Given the description of an element on the screen output the (x, y) to click on. 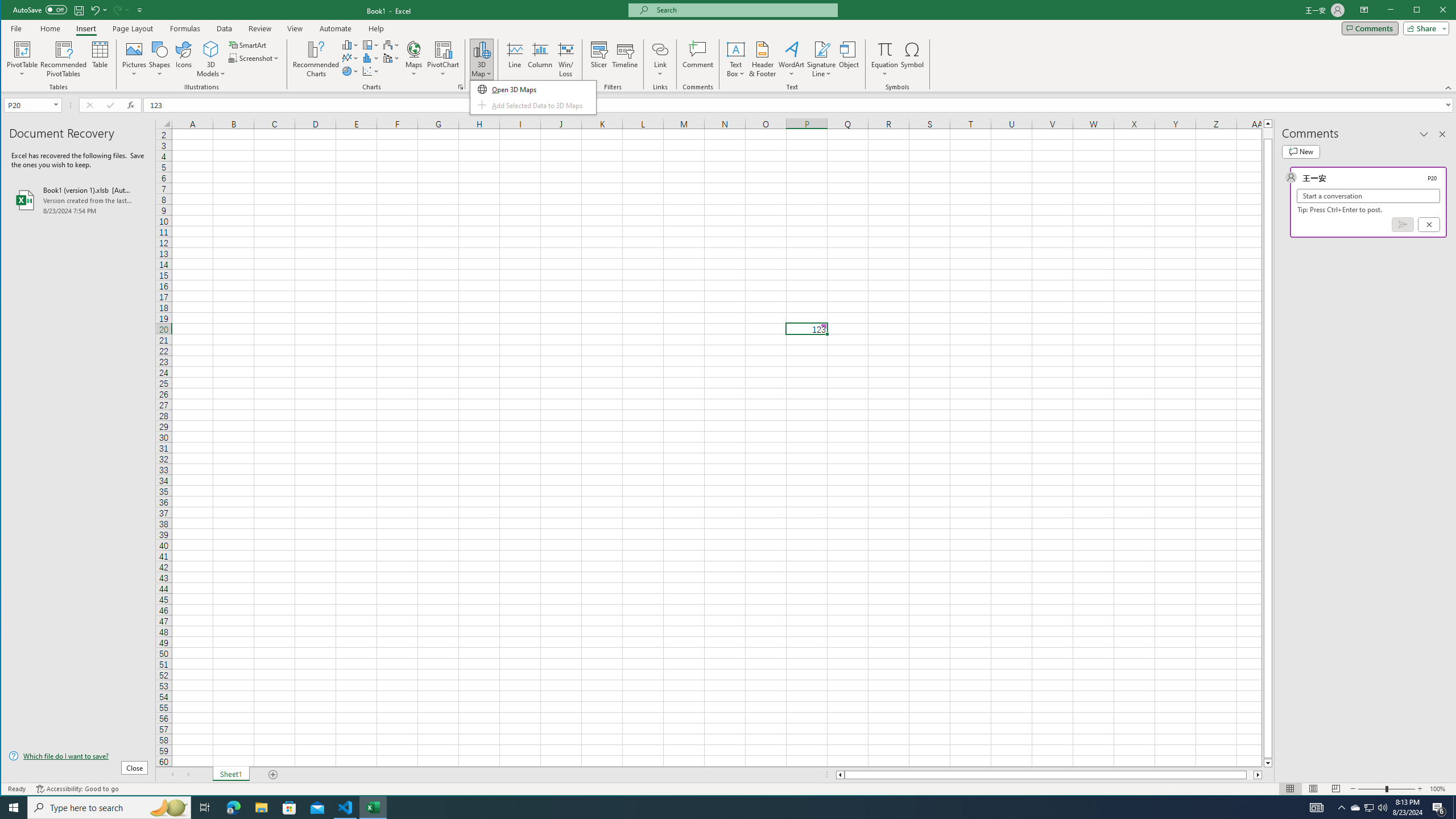
Recommended Charts (460, 86)
PivotTable (22, 48)
Microsoft Store (289, 807)
Table (100, 59)
Post comment (Ctrl + Enter) (1402, 224)
Shapes (159, 59)
Microsoft Edge (233, 807)
Search highlights icon opens search home window (167, 807)
Page up (1267, 132)
Running applications (717, 807)
